Given the description of an element on the screen output the (x, y) to click on. 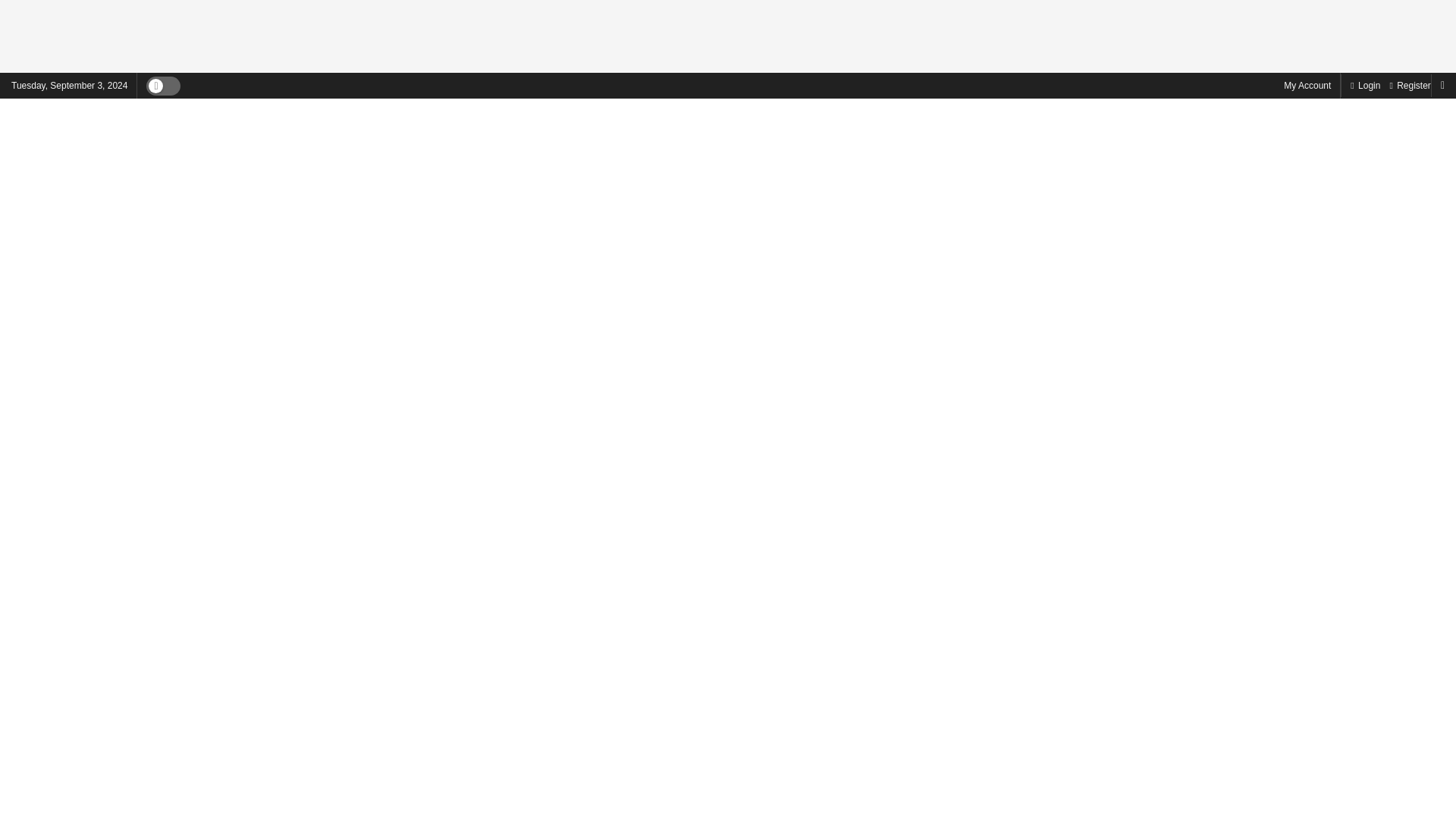
Register (1409, 85)
Login (1365, 85)
My Account (1307, 85)
